Given the description of an element on the screen output the (x, y) to click on. 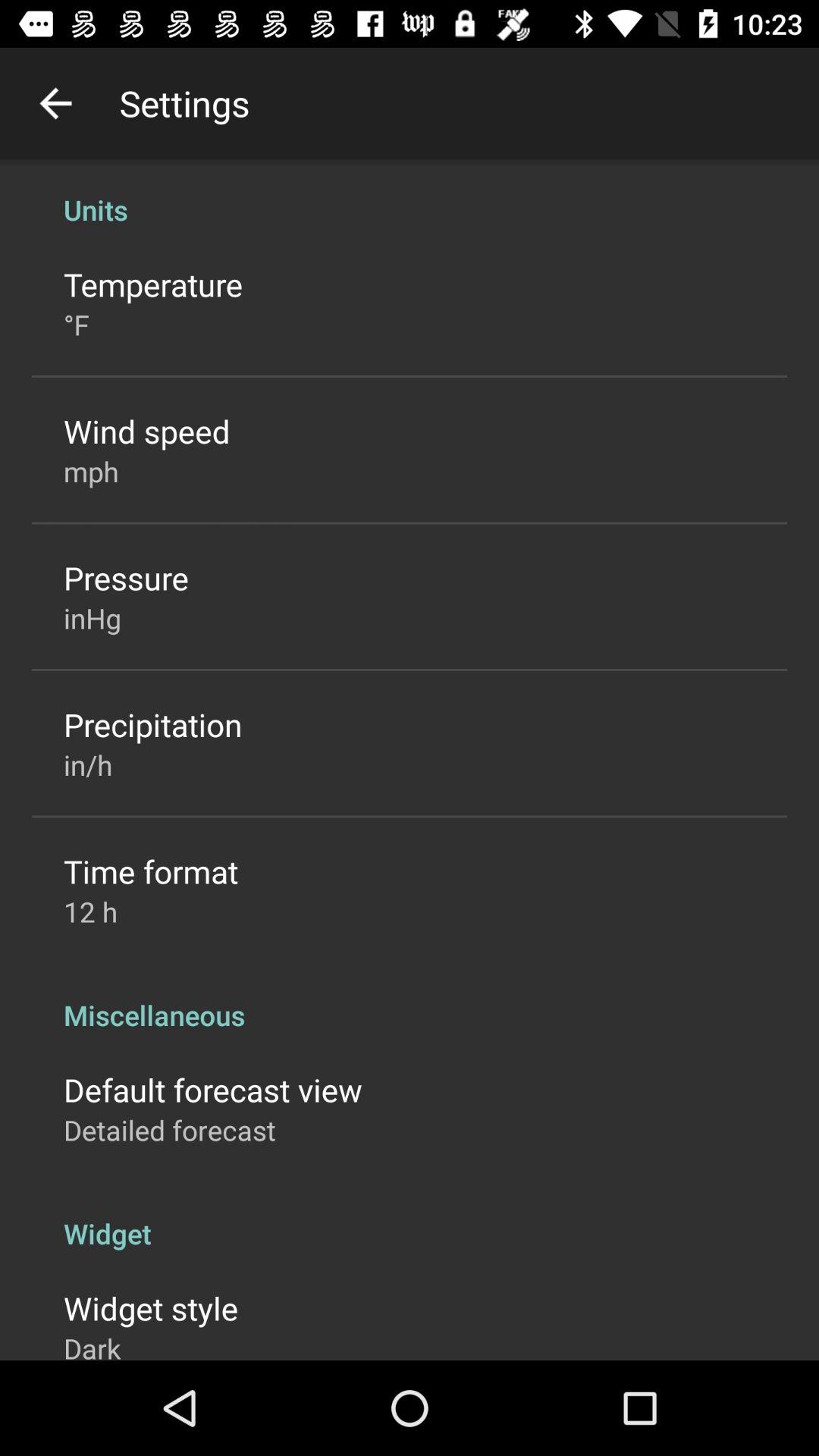
swipe to detailed forecast item (169, 1129)
